Given the description of an element on the screen output the (x, y) to click on. 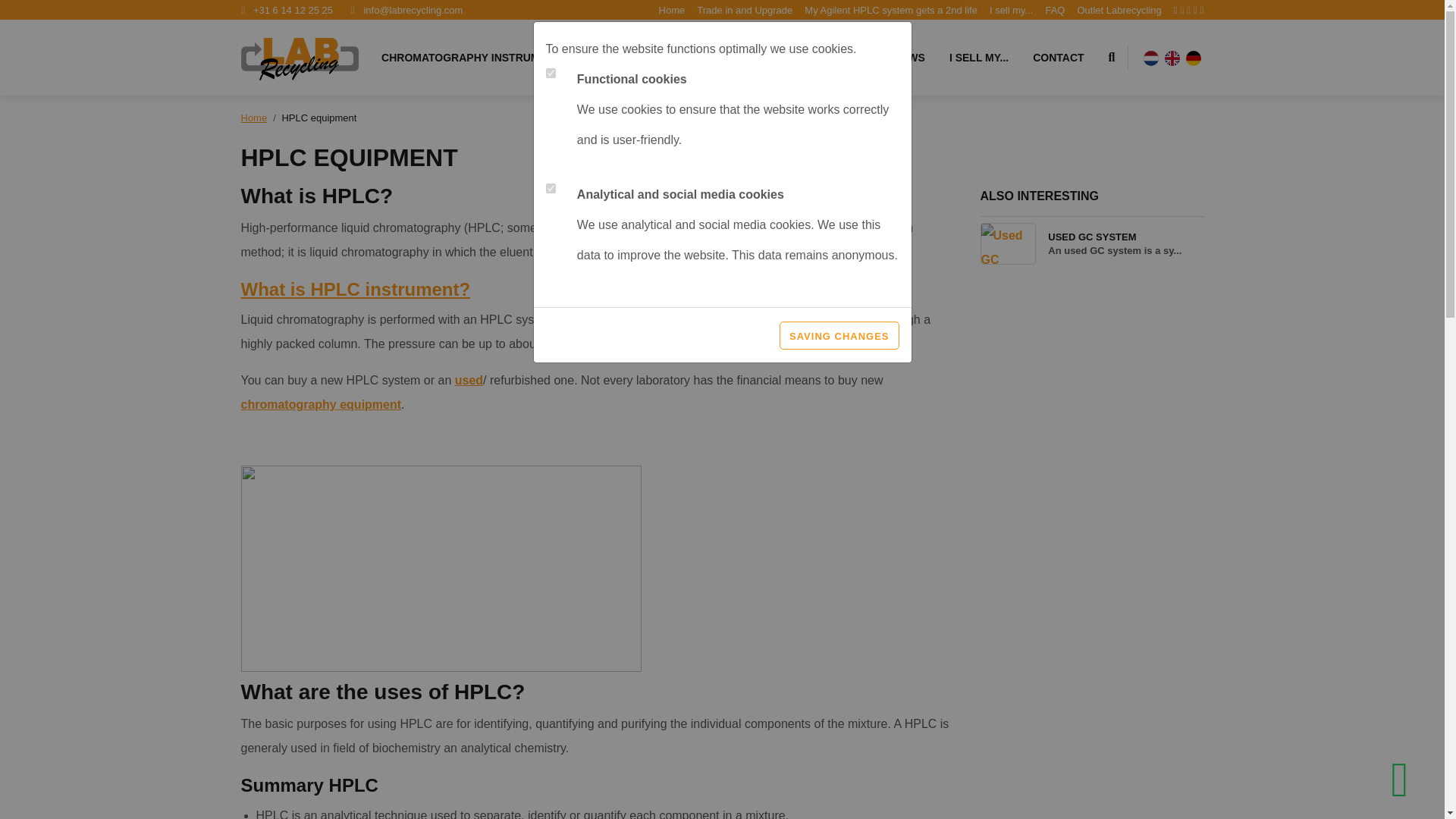
Home (254, 118)
used (468, 379)
CHROMATOGRAPHY INSTRUMENTS (1091, 243)
My Agilent HPLC system gets a 2nd life  (474, 57)
TRADE SHOWS (890, 9)
My Agilent HPLC system gets a 2nd life (884, 57)
Trade in and Upgrade (890, 9)
on (744, 9)
on (551, 188)
